Given the description of an element on the screen output the (x, y) to click on. 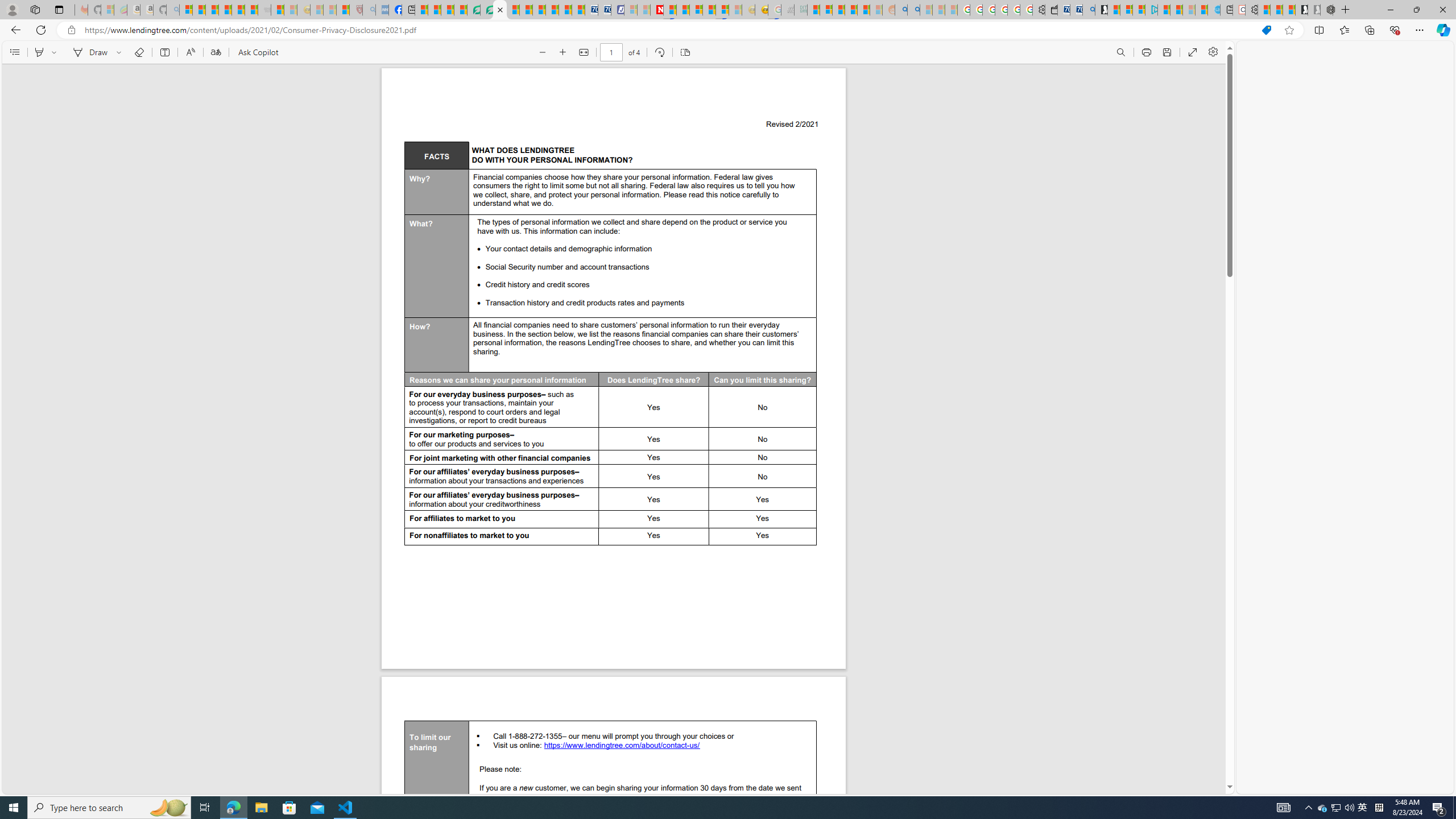
Play Free Online Games | Games from Microsoft Start (1301, 9)
Find (Ctrl + F) (1120, 52)
Zoom in (Ctrl+Plus key) (562, 52)
Home | Sky Blue Bikes - Sky Blue Bikes (1213, 9)
Microsoft Word - consumer-privacy address update 2.2021 (500, 9)
